Given the description of an element on the screen output the (x, y) to click on. 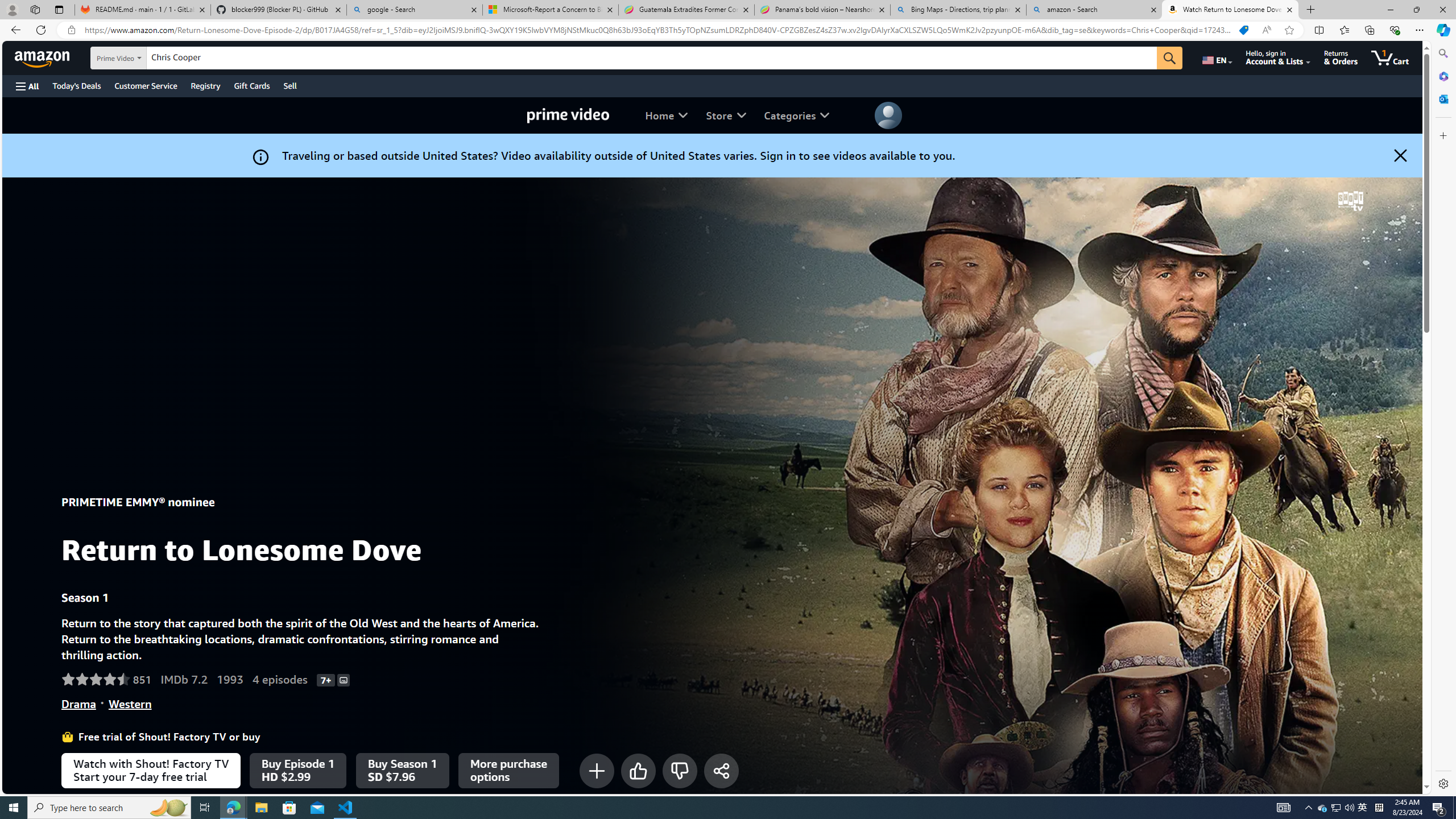
Western (129, 703)
More purchase options (508, 769)
Drama (78, 703)
Class: mO+eGr (679, 769)
